Given the description of an element on the screen output the (x, y) to click on. 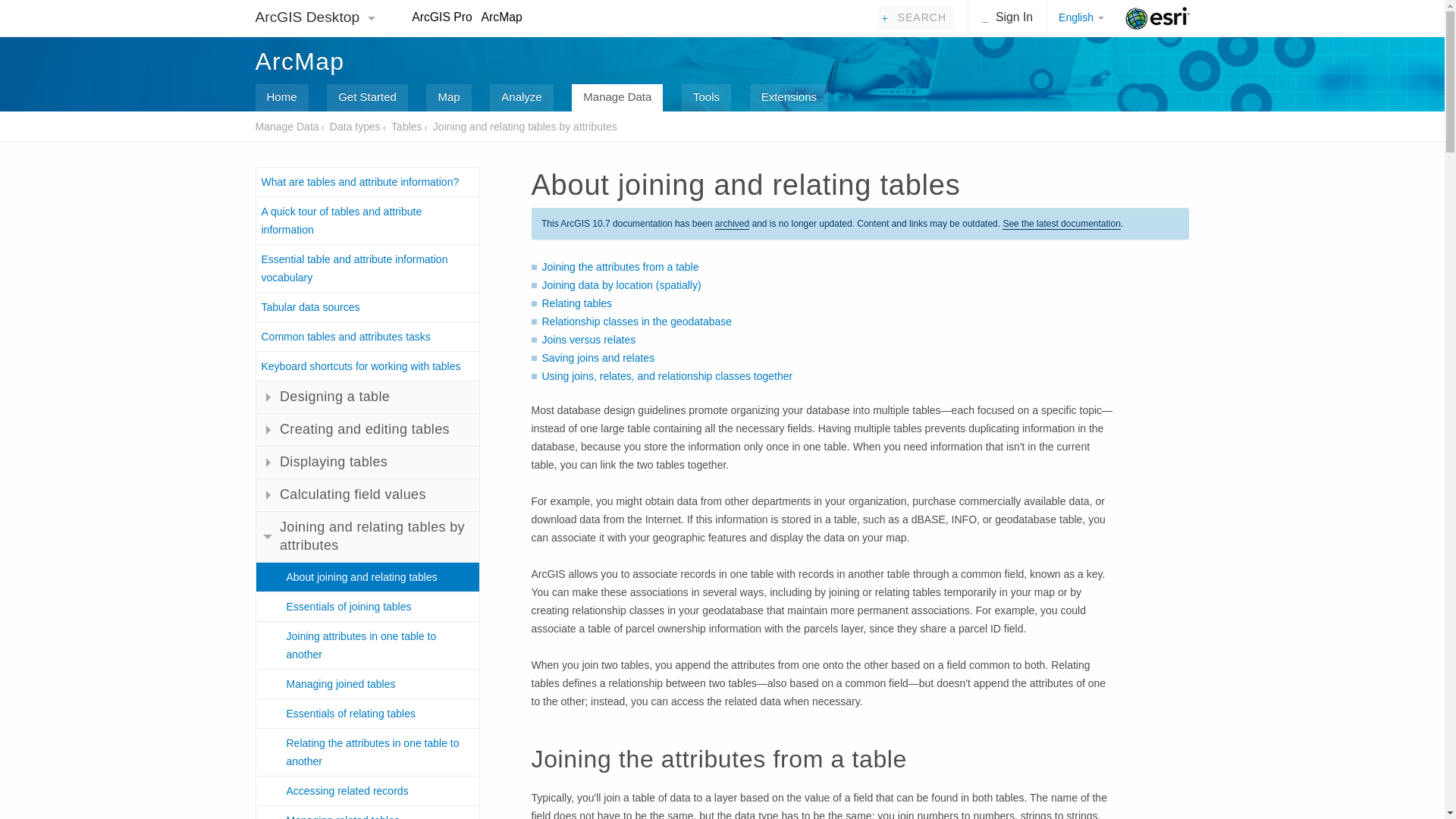
Analyze (521, 97)
Home (280, 97)
Extensions (788, 97)
Manage Data (286, 126)
Analysis in ArcMap (521, 97)
Map (448, 97)
Documentation  for ArcMap Extensions (788, 97)
ArcGIS Desktop (308, 17)
Get Started with ArcMap (366, 97)
English (1079, 18)
Esri (1157, 18)
Manage Data (617, 97)
Tools (705, 97)
Data Management in ArcMap (617, 97)
Get Started (366, 97)
